Given the description of an element on the screen output the (x, y) to click on. 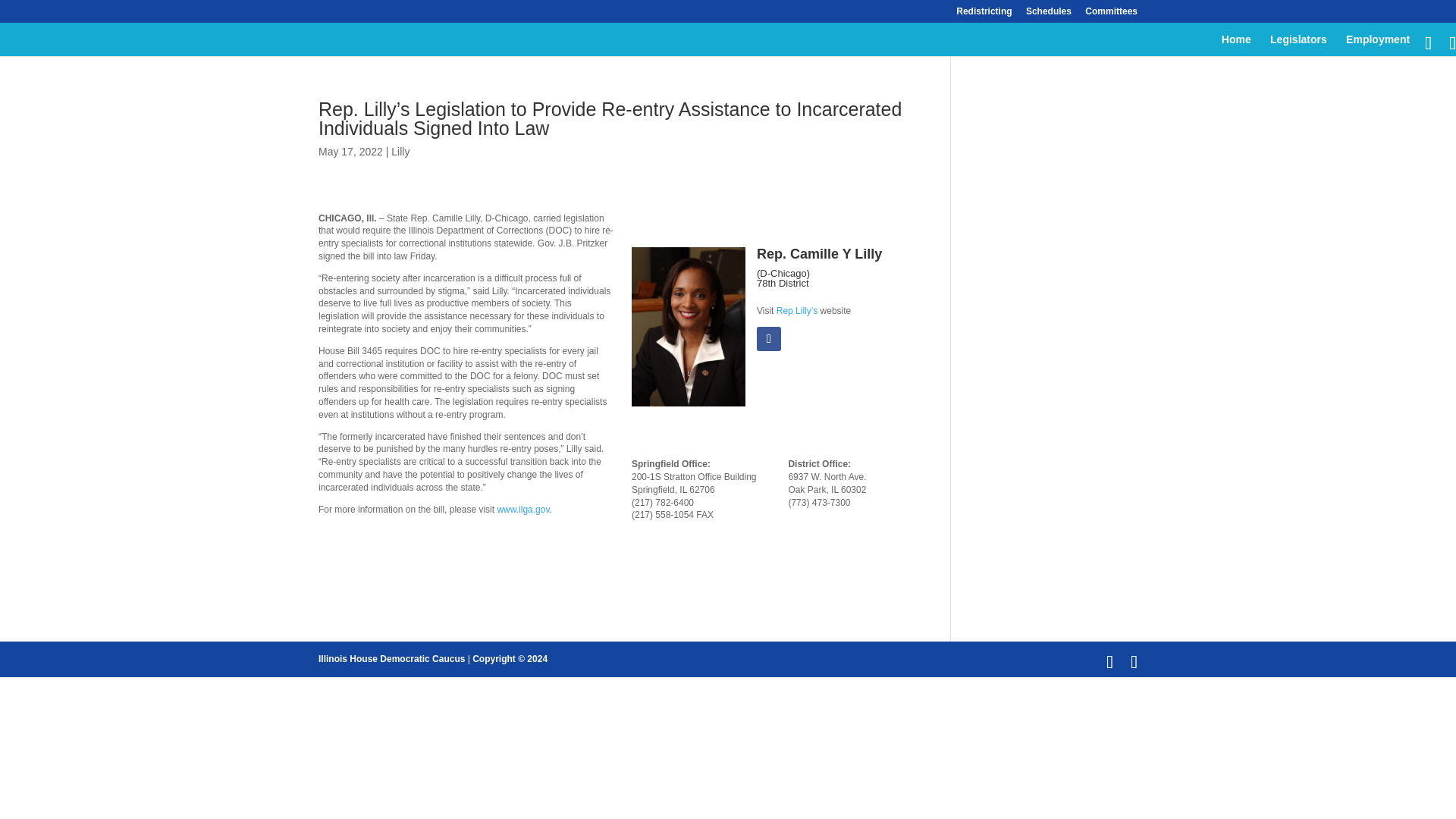
Schedules (1048, 14)
IL House Democrats (391, 658)
Legislators (1297, 45)
Lilly (400, 151)
Home (1235, 45)
Redistricting (983, 14)
Employment (1377, 45)
Illinois House Democratic Caucus (391, 658)
Follow on Facebook (768, 337)
www.ilga.gov (522, 509)
